Given the description of an element on the screen output the (x, y) to click on. 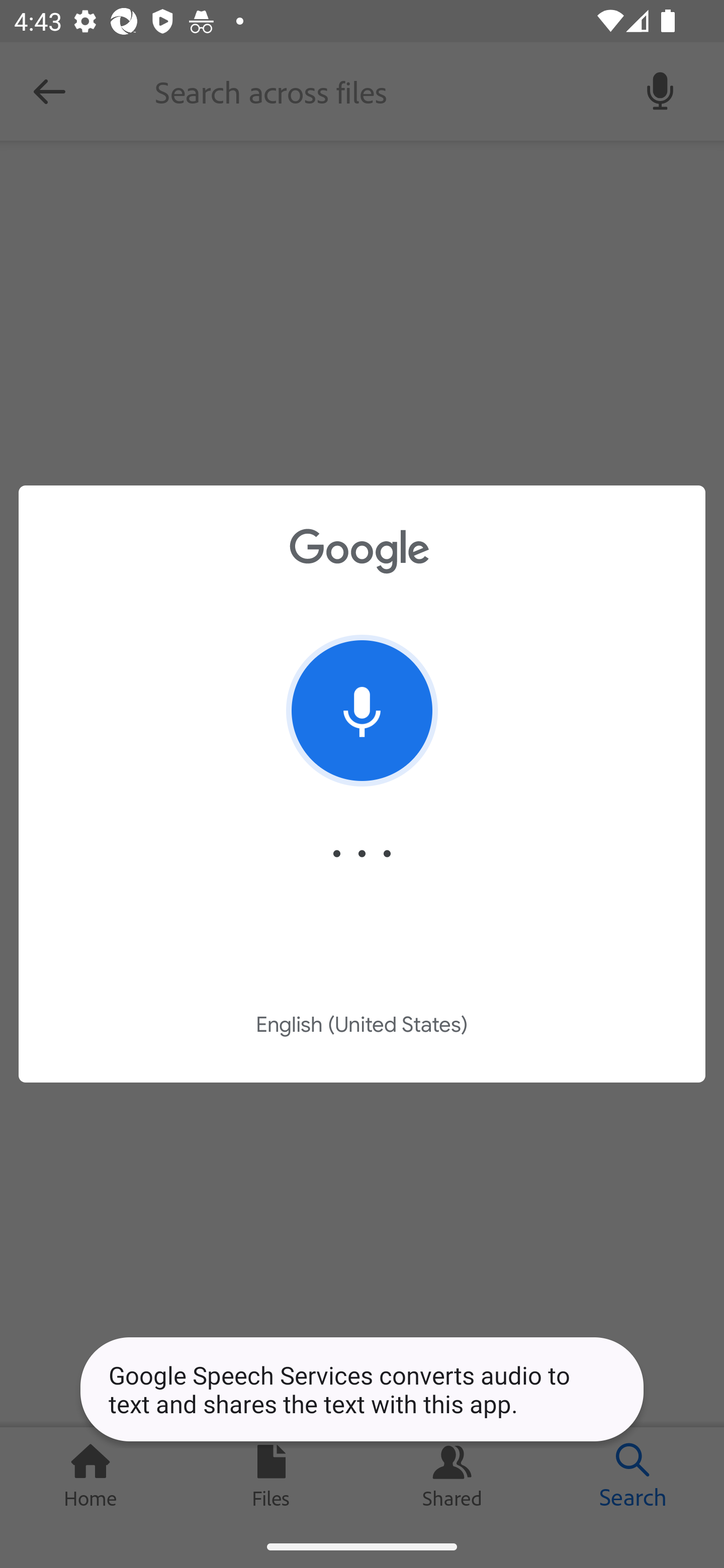
Tap to stop listening (361, 710)
